Given the description of an element on the screen output the (x, y) to click on. 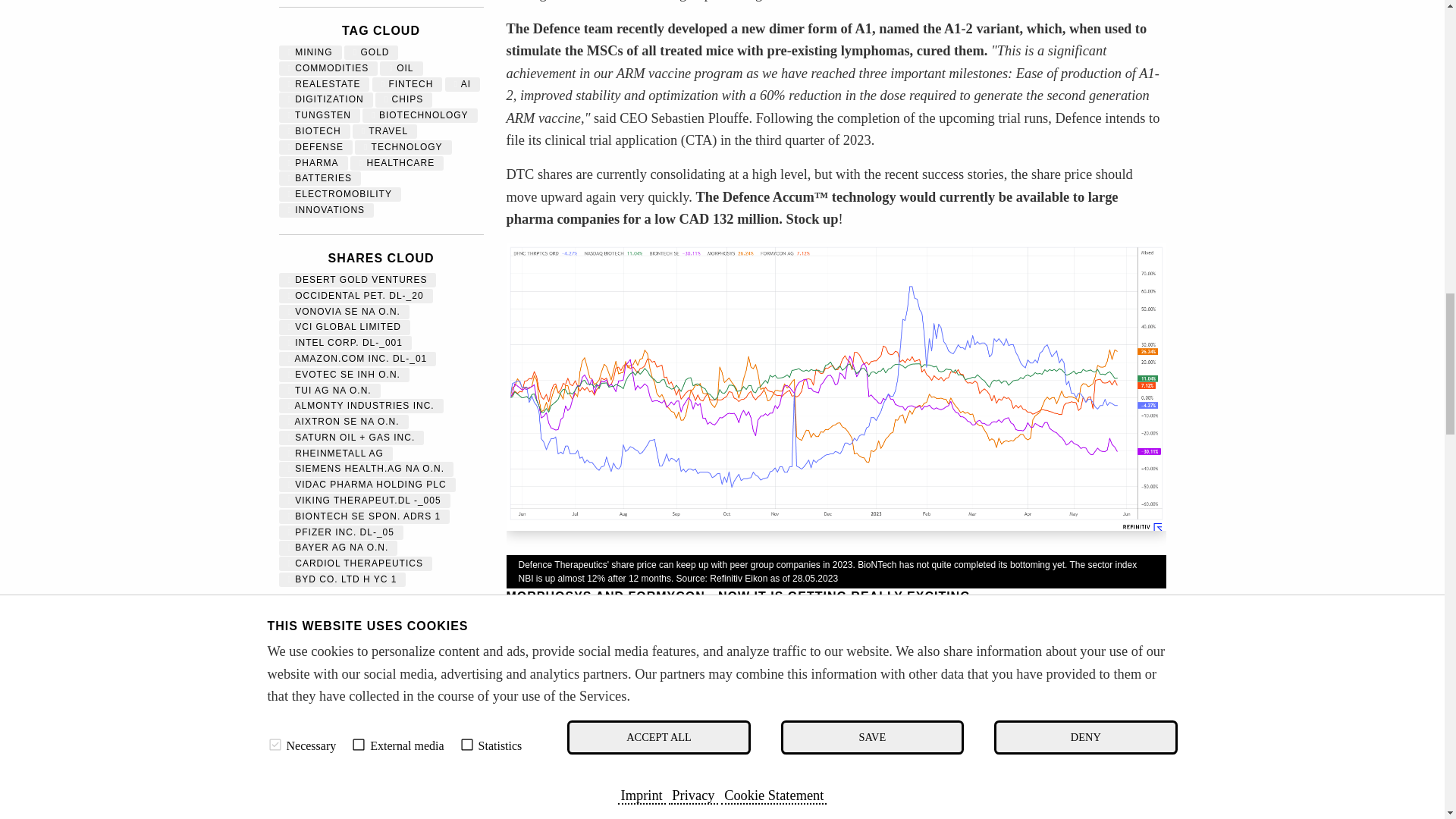
REALESTATE (324, 83)
CHIPS (403, 99)
BIOTECH (314, 131)
AI (462, 83)
MINING (310, 51)
COMMODITIES (328, 68)
BIOTECHNOLOGY (419, 114)
TUNGSTEN (320, 114)
DIGITIZATION (325, 99)
FINTECH (407, 83)
